Given the description of an element on the screen output the (x, y) to click on. 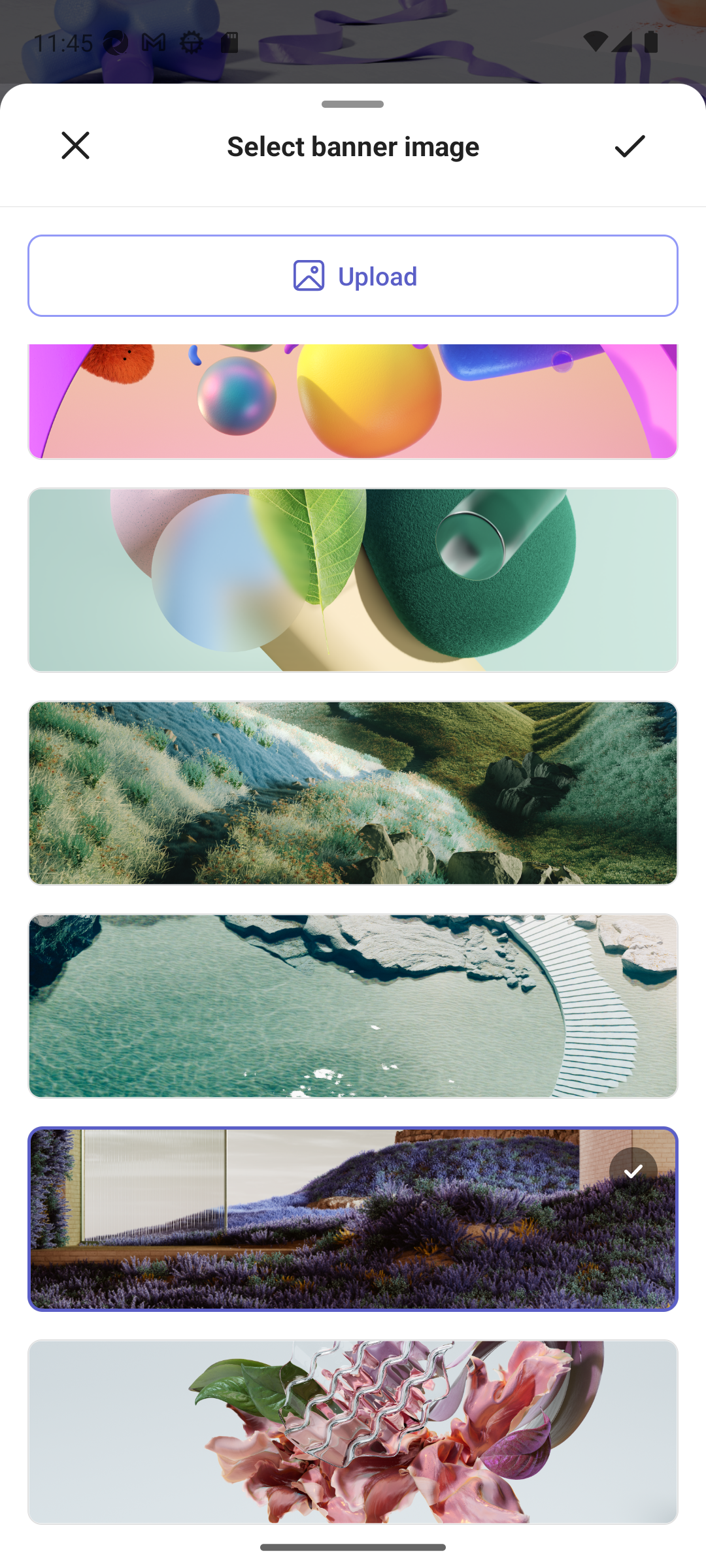
Cancel (75, 145)
Save (630, 145)
Upload (352, 275)
